Given the description of an element on the screen output the (x, y) to click on. 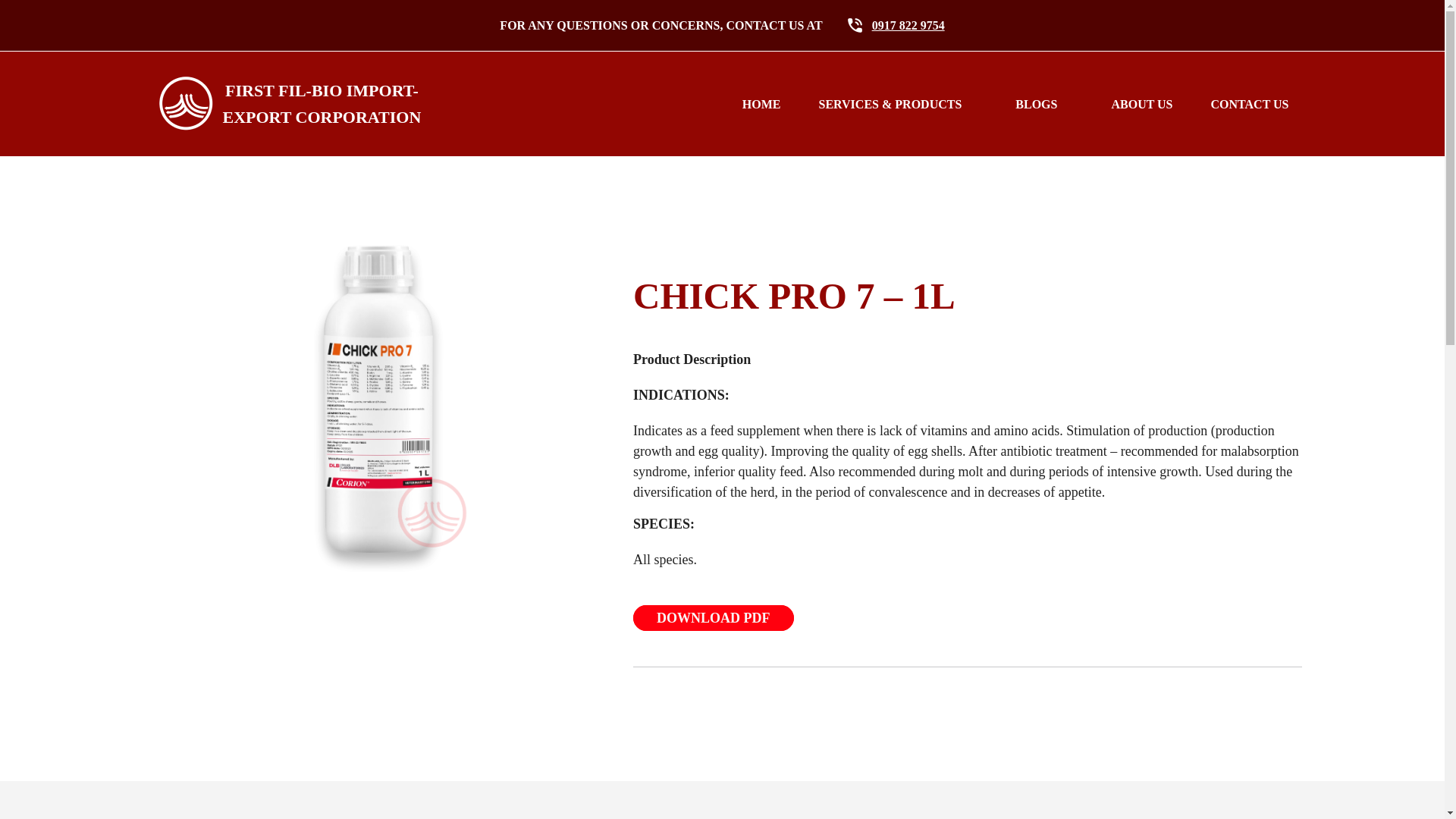
BLOGS (1043, 103)
DOWNLOAD PDF (713, 617)
CONTACT US (280, 103)
HOME (1240, 103)
ABOUT US (770, 103)
0917 822 9754 (1141, 103)
